Given the description of an element on the screen output the (x, y) to click on. 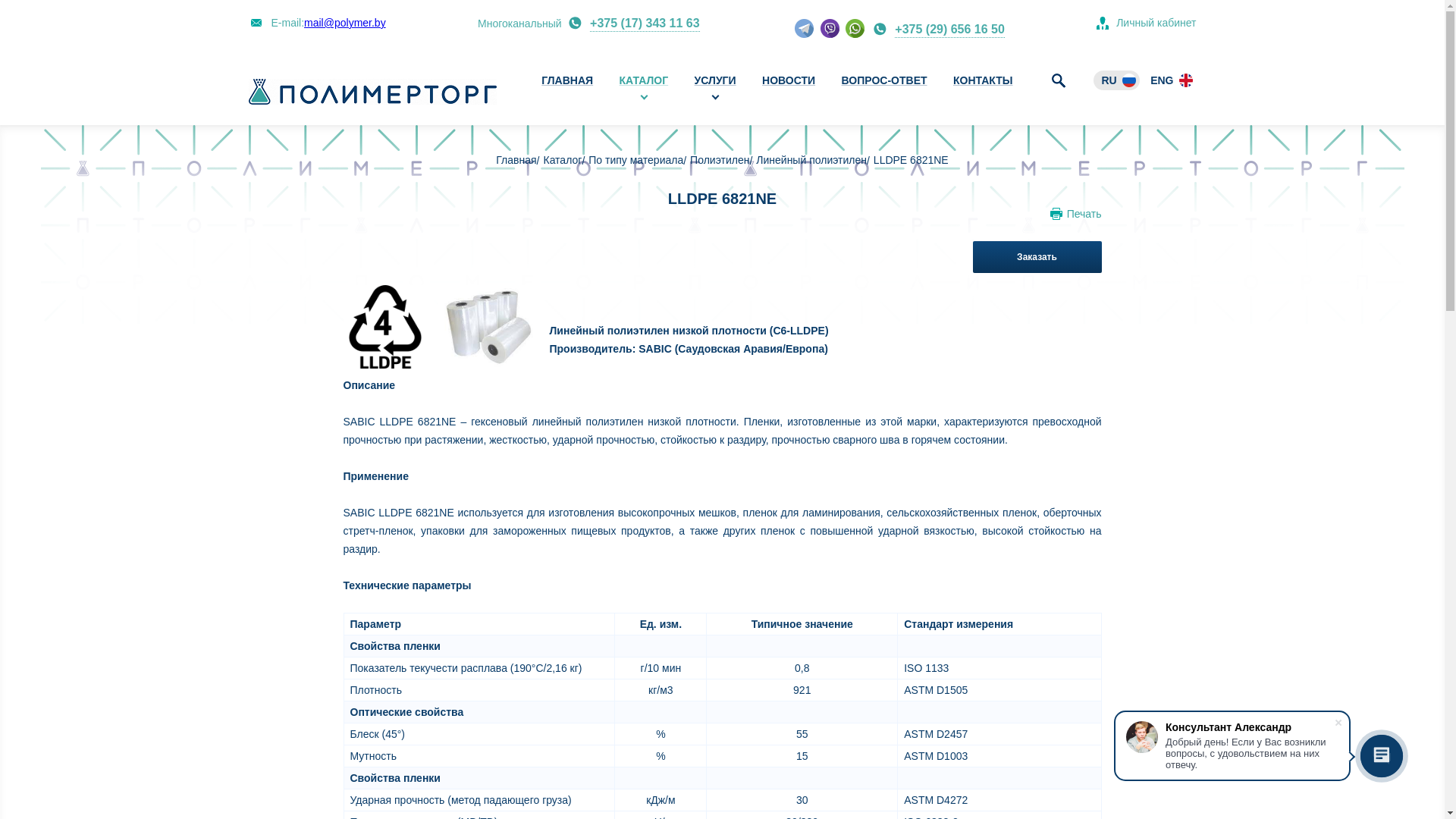
ENG Element type: text (1168, 80)
lldpe_label_.png Element type: hover (384, 326)
+375 (29) 656 16 50 Element type: text (949, 29)
+375 (17) 343 11 63 Element type: text (644, 23)
RU Element type: text (1116, 80)
LLDPE films.jpg Element type: hover (488, 326)
mail@polymer.by Element type: text (344, 22)
